Given the description of an element on the screen output the (x, y) to click on. 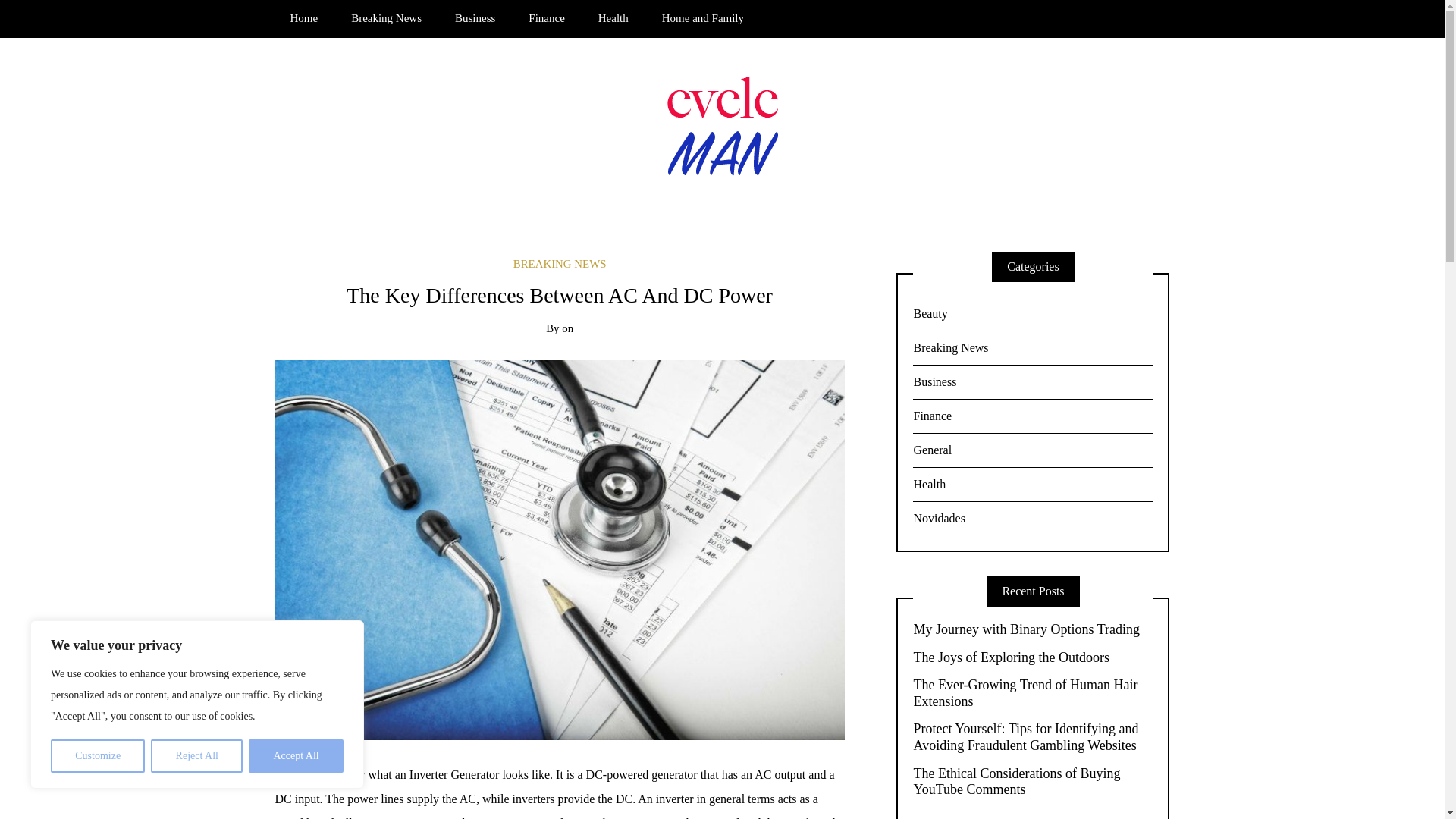
Accept All (295, 756)
Permalink to: "The Key Differences Between AC And DC Power" (559, 548)
Business (475, 18)
Home and Family (702, 18)
BREAKING NEWS (560, 263)
Finance (546, 18)
Breaking News (386, 18)
Health (613, 18)
Home (304, 18)
Customize (97, 756)
Reject All (197, 756)
